Given the description of an element on the screen output the (x, y) to click on. 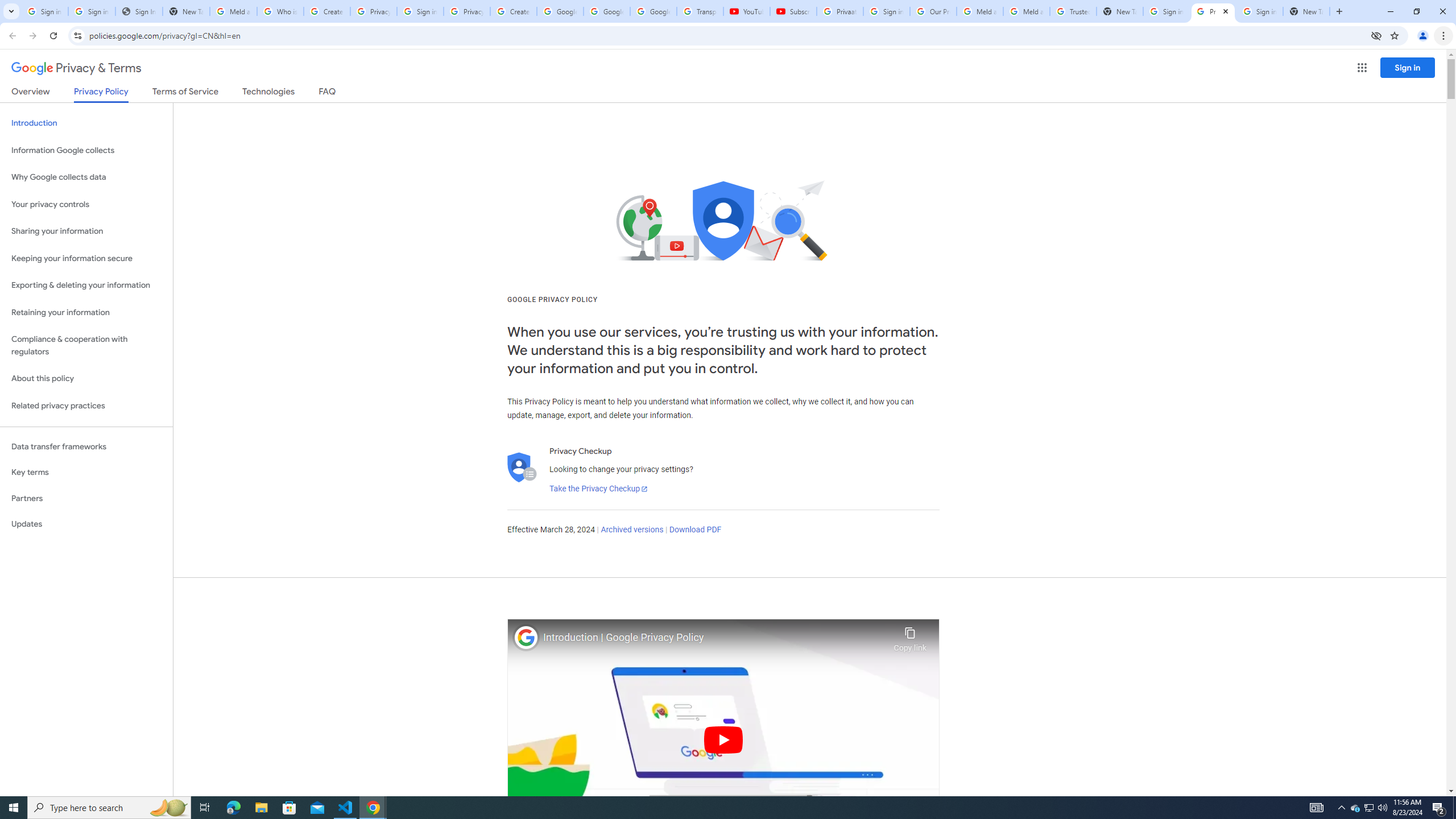
Information Google collects (86, 150)
Retaining your information (86, 312)
Google Account (652, 11)
Subscriptions - YouTube (792, 11)
Compliance & cooperation with regulators (86, 345)
Play (723, 739)
Why Google collects data (86, 176)
Sign in - Google Accounts (44, 11)
Keeping your information secure (86, 258)
Sign in - Google Accounts (91, 11)
